Given the description of an element on the screen output the (x, y) to click on. 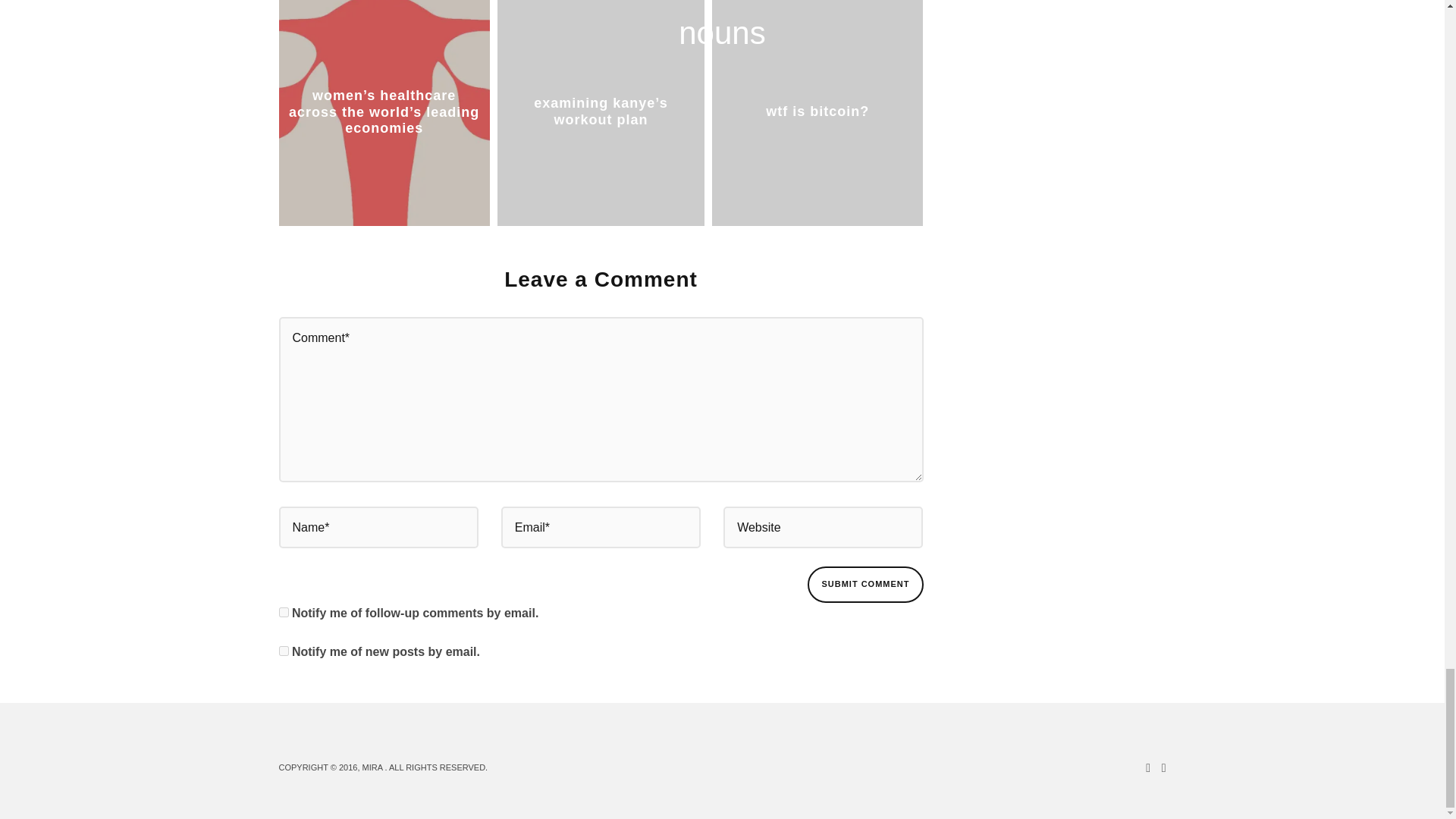
subscribe (283, 612)
wtf is bitcoin? (817, 111)
subscribe (283, 651)
Submit Comment (865, 583)
Submit Comment (865, 583)
